Given the description of an element on the screen output the (x, y) to click on. 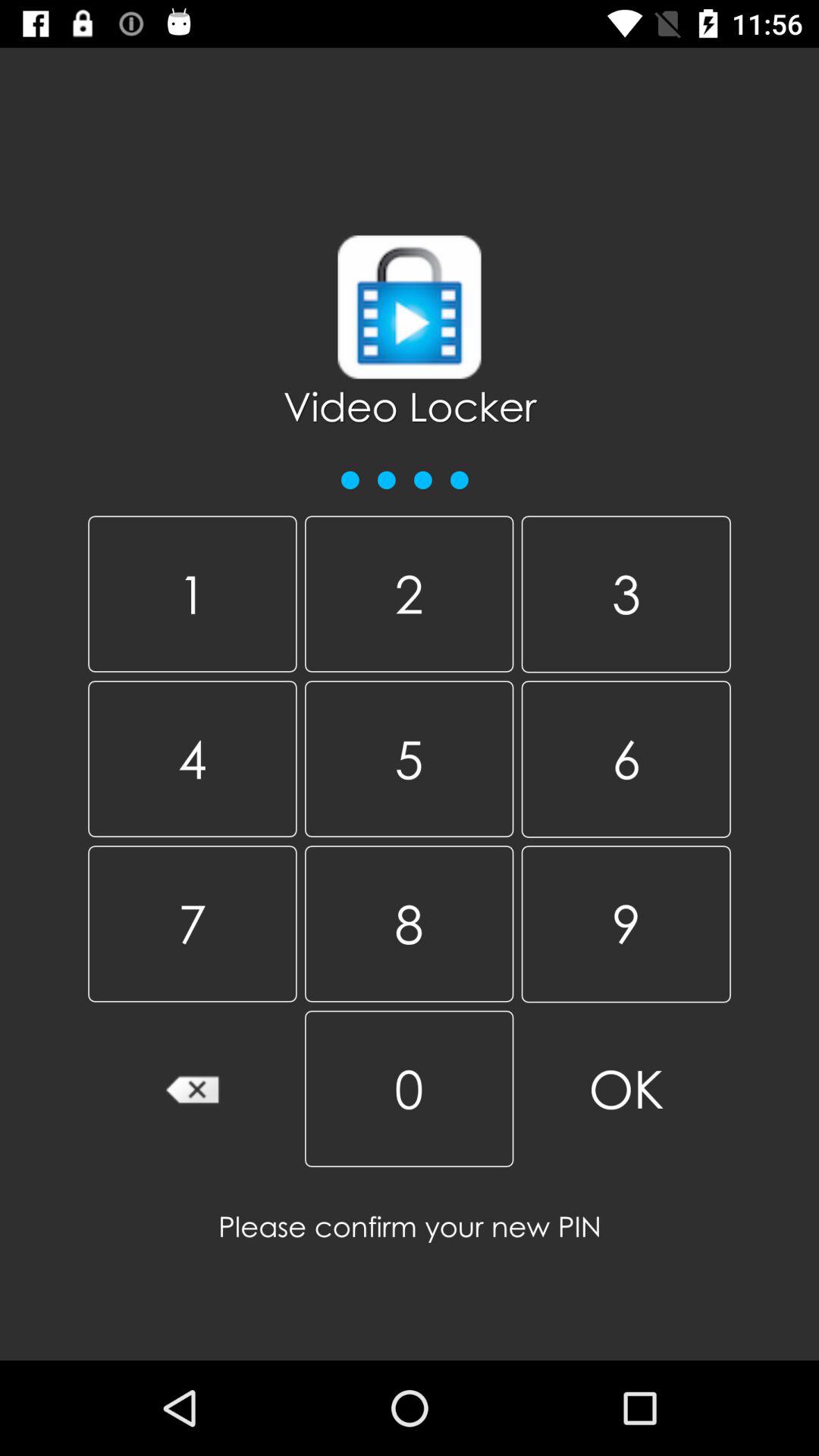
launch the icon above the 5 (625, 593)
